Given the description of an element on the screen output the (x, y) to click on. 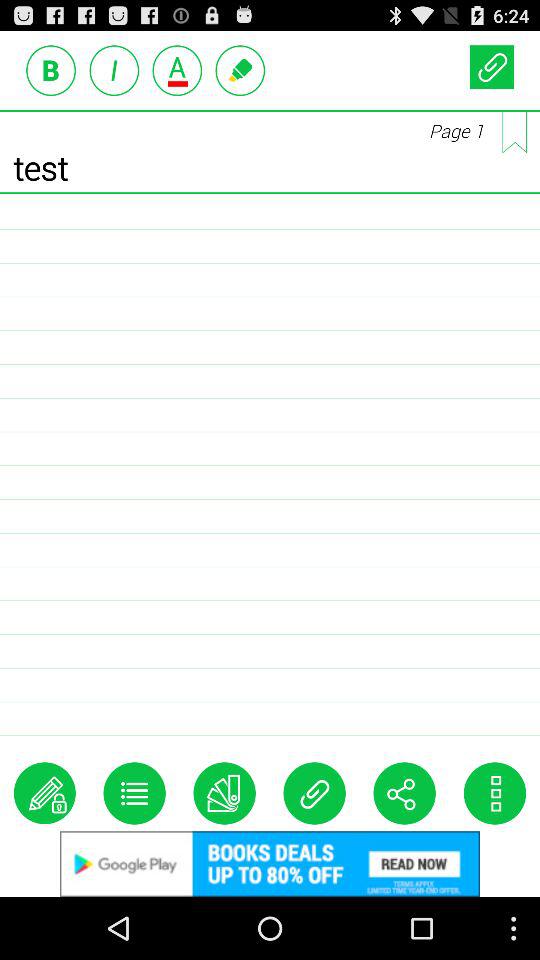
go to edit (44, 793)
